Given the description of an element on the screen output the (x, y) to click on. 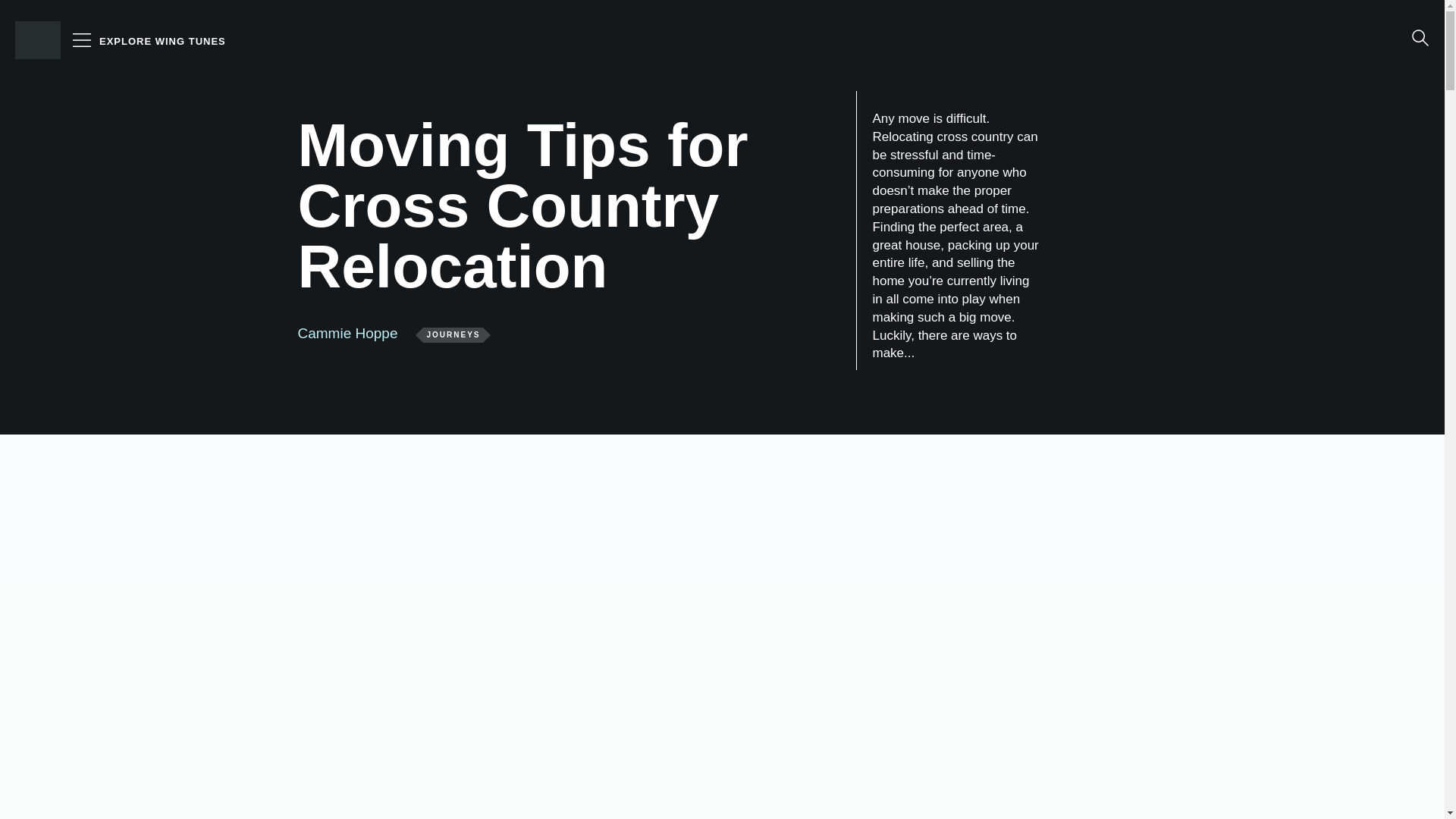
Cammie Hoppe (347, 333)
EXPLORE WING TUNES (162, 41)
JOURNEYS (453, 335)
